Given the description of an element on the screen output the (x, y) to click on. 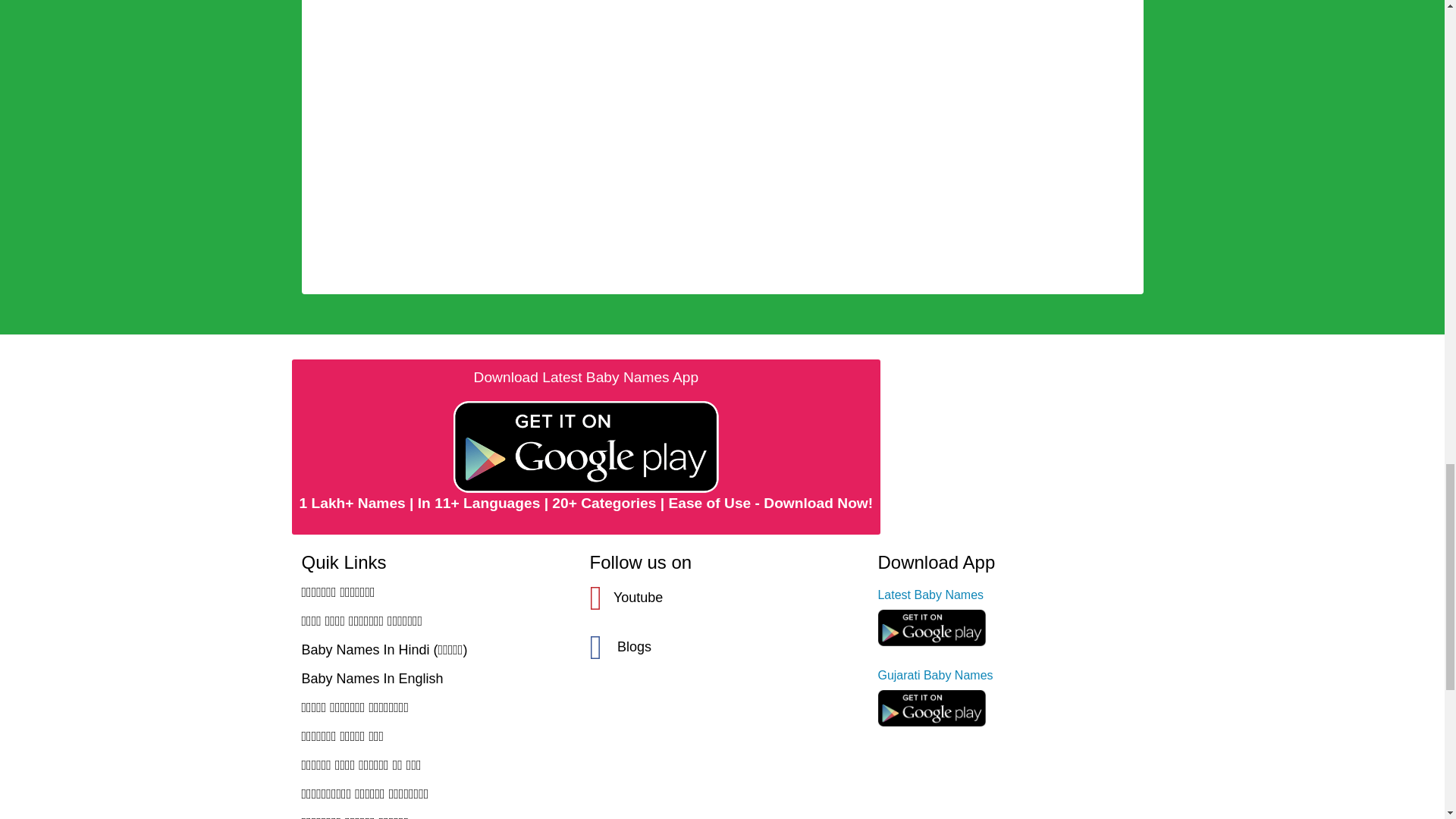
Advertisement (722, 22)
Download Latest Baby Names App from Google Play Store (585, 446)
